Given the description of an element on the screen output the (x, y) to click on. 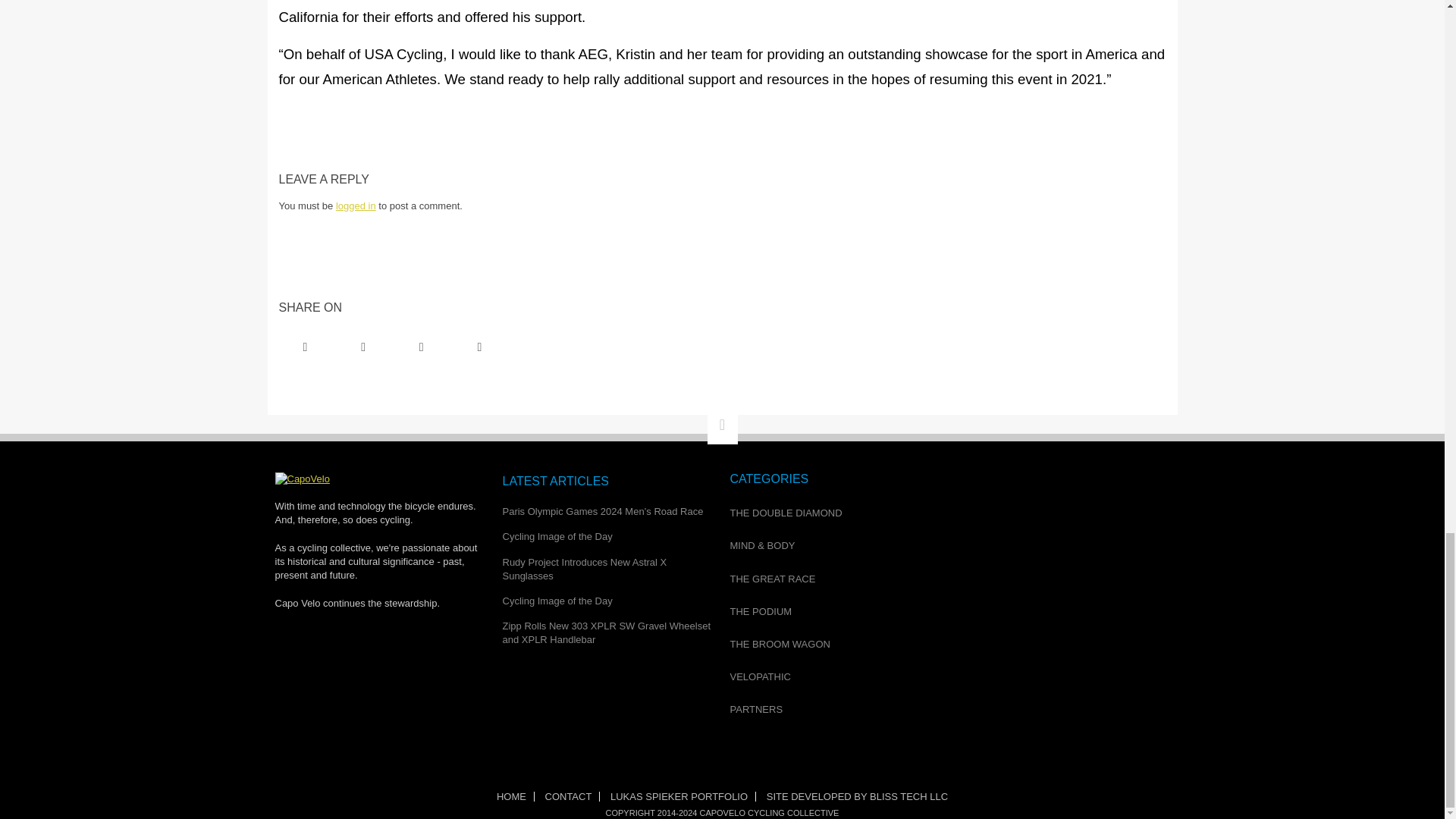
Pinterest (421, 346)
E-Mail (478, 346)
Facebook (305, 346)
Twitter (363, 346)
